Given the description of an element on the screen output the (x, y) to click on. 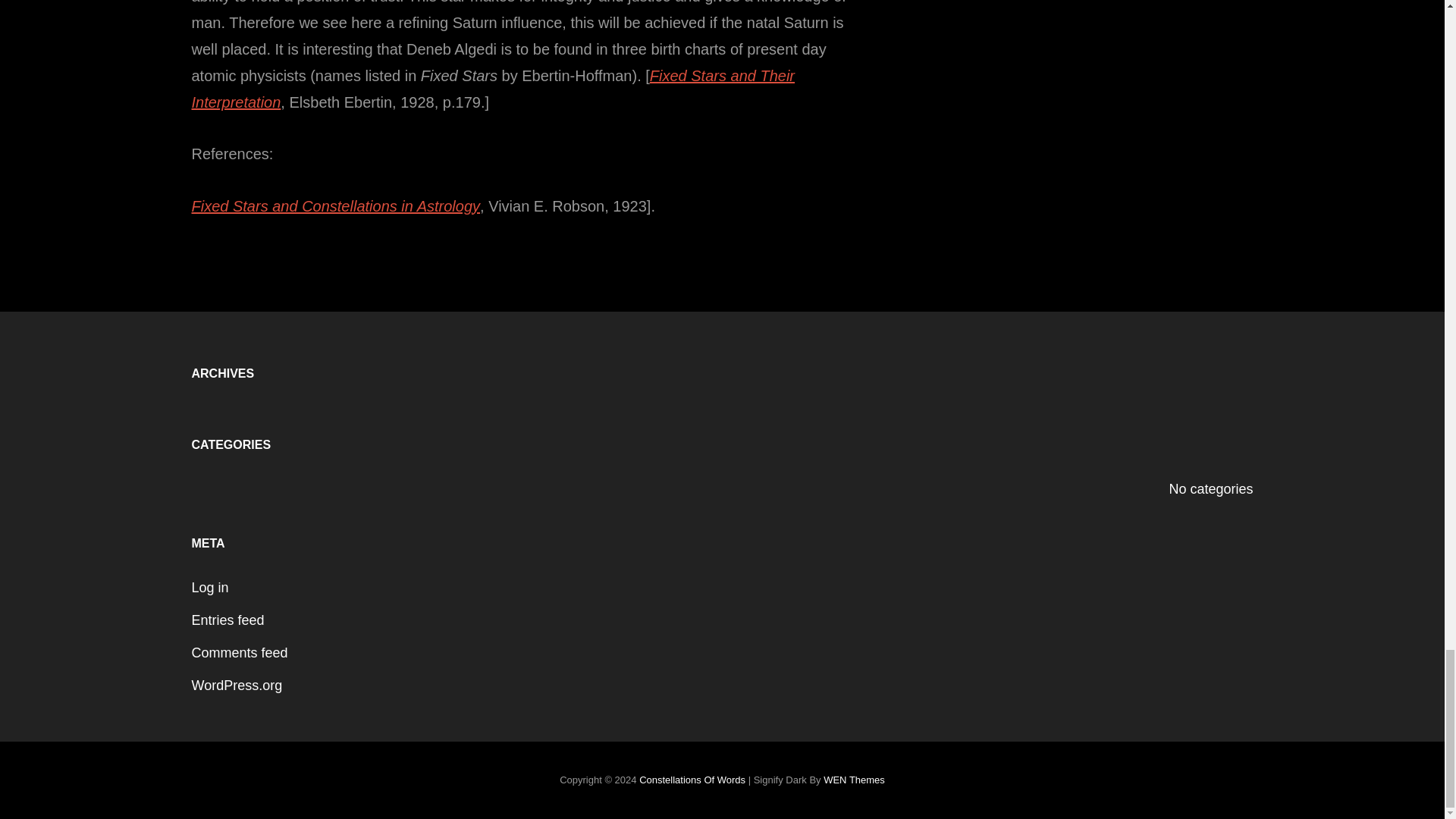
Entries feed (226, 620)
Log in (209, 587)
WEN Themes (854, 779)
WordPress.org (236, 685)
Comments feed (238, 652)
Constellations Of Words (692, 779)
Fixed Stars and Constellations in Astrology (335, 206)
Fixed Stars and Their Interpretation (492, 88)
